Given the description of an element on the screen output the (x, y) to click on. 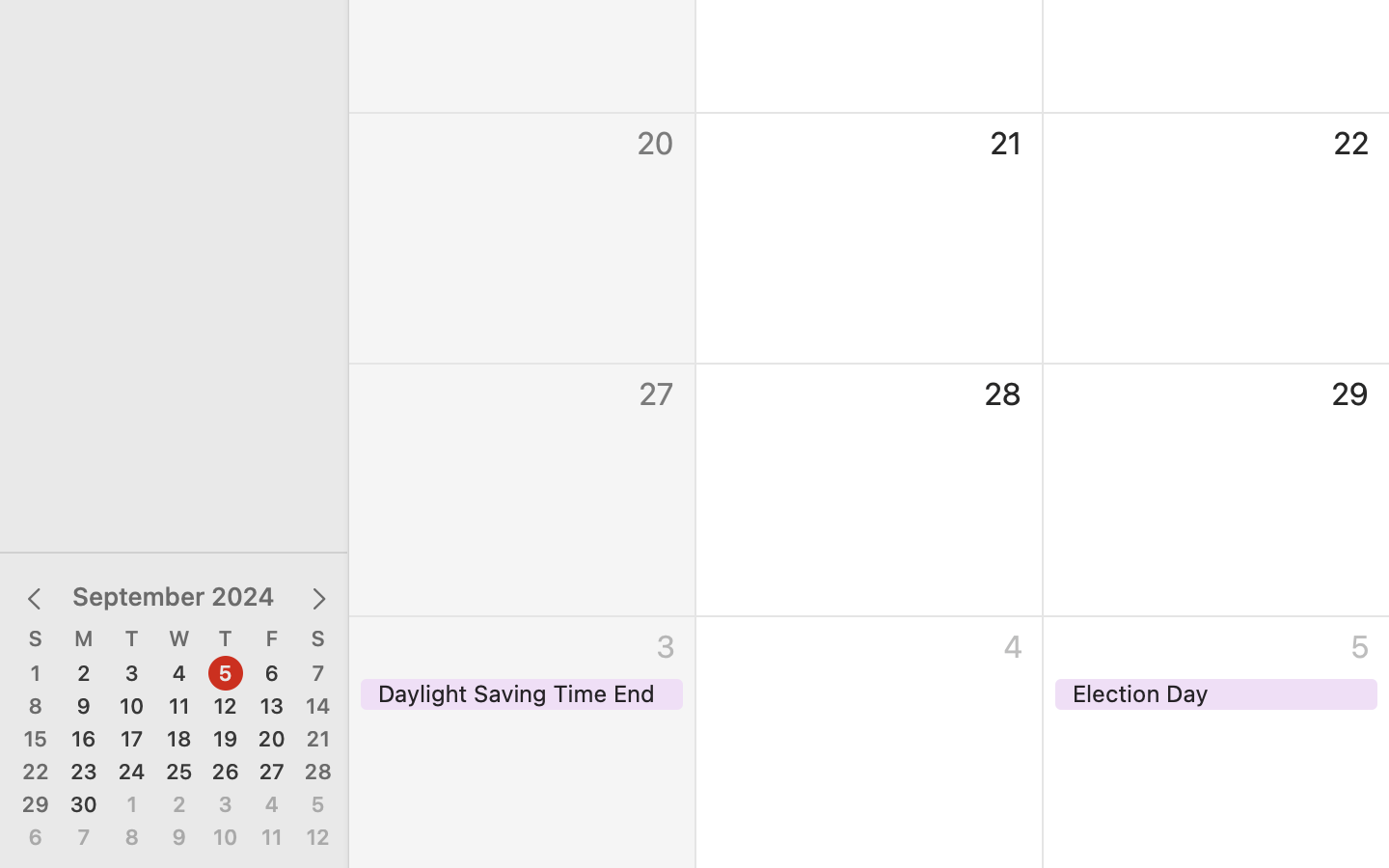
20 Element type: AXStaticText (271, 739)
September 2024 Element type: AXStaticText (173, 595)
14 Element type: AXStaticText (318, 706)
8 Element type: AXStaticText (35, 706)
